Given the description of an element on the screen output the (x, y) to click on. 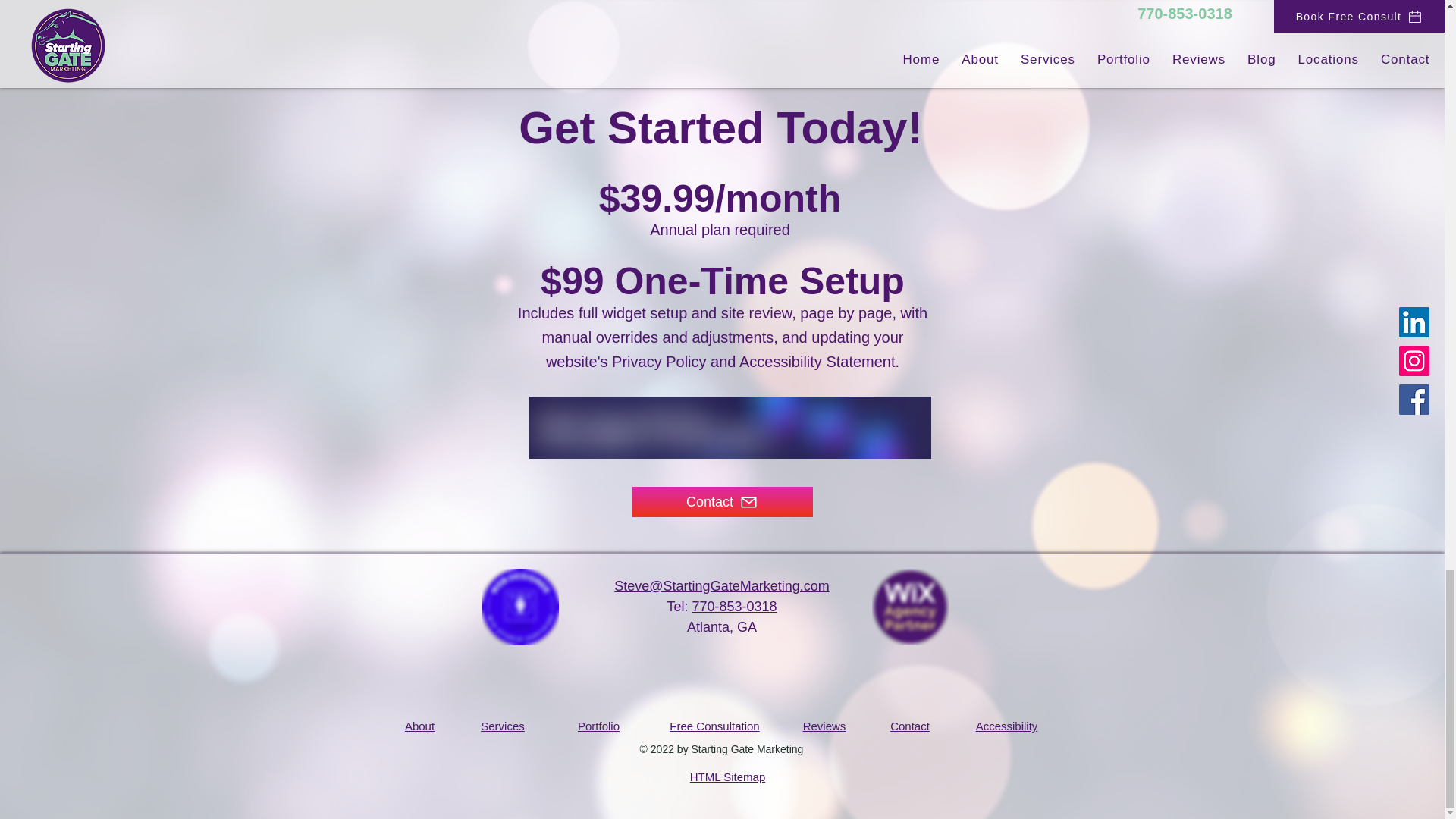
Starting Gate Marketing LLC-Badge.png (520, 606)
